Given the description of an element on the screen output the (x, y) to click on. 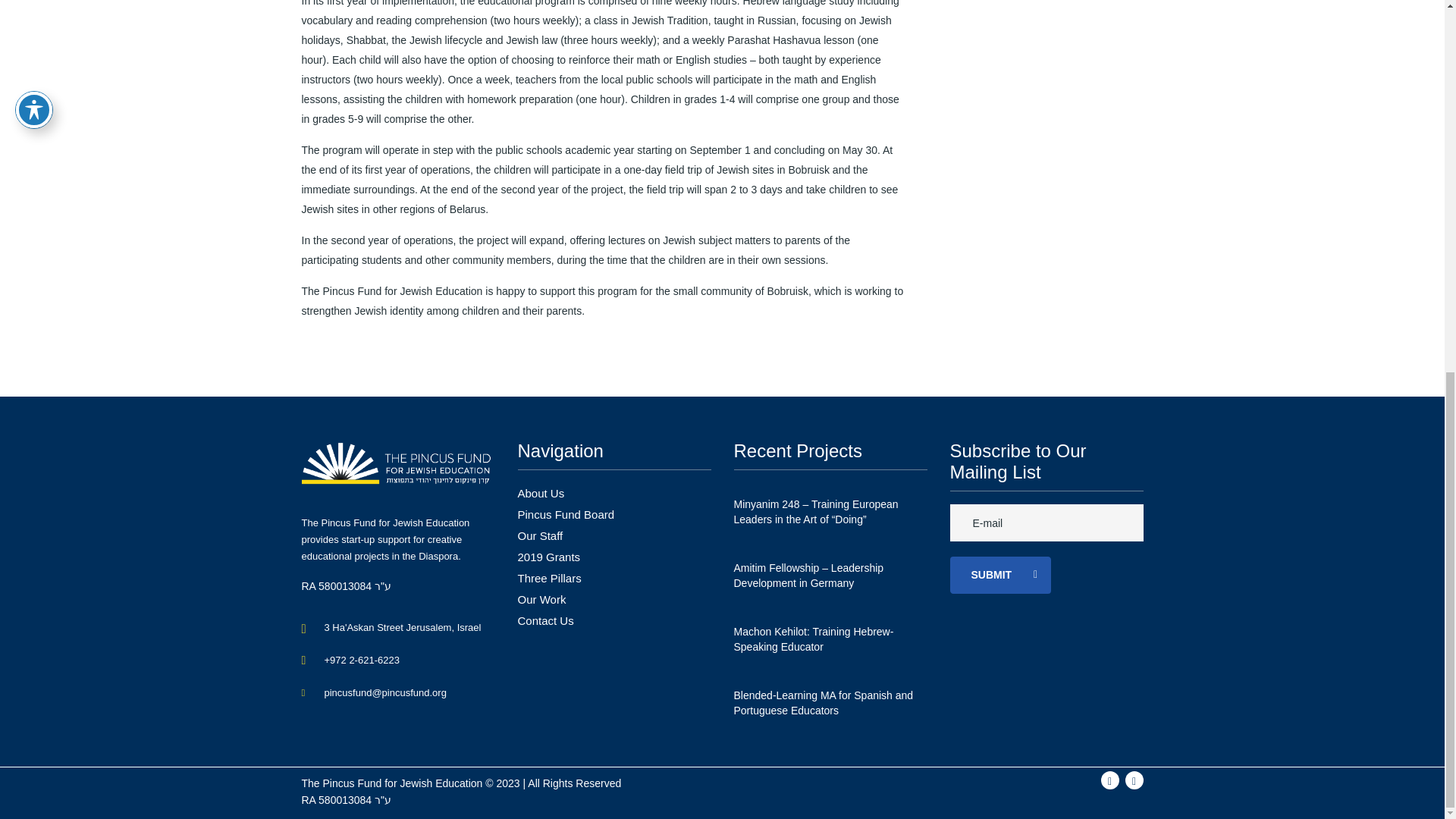
Click to read About us (540, 492)
Click to read about our Board of Directors (565, 513)
Click to read about our Staff members (539, 535)
About Us (540, 492)
Our Staff (539, 535)
Click to read about our work (541, 599)
2019 Grants (547, 556)
Click to view all the different ways to contact us (544, 620)
Pincus Fund Board (565, 513)
Three Pillars (548, 577)
